Given the description of an element on the screen output the (x, y) to click on. 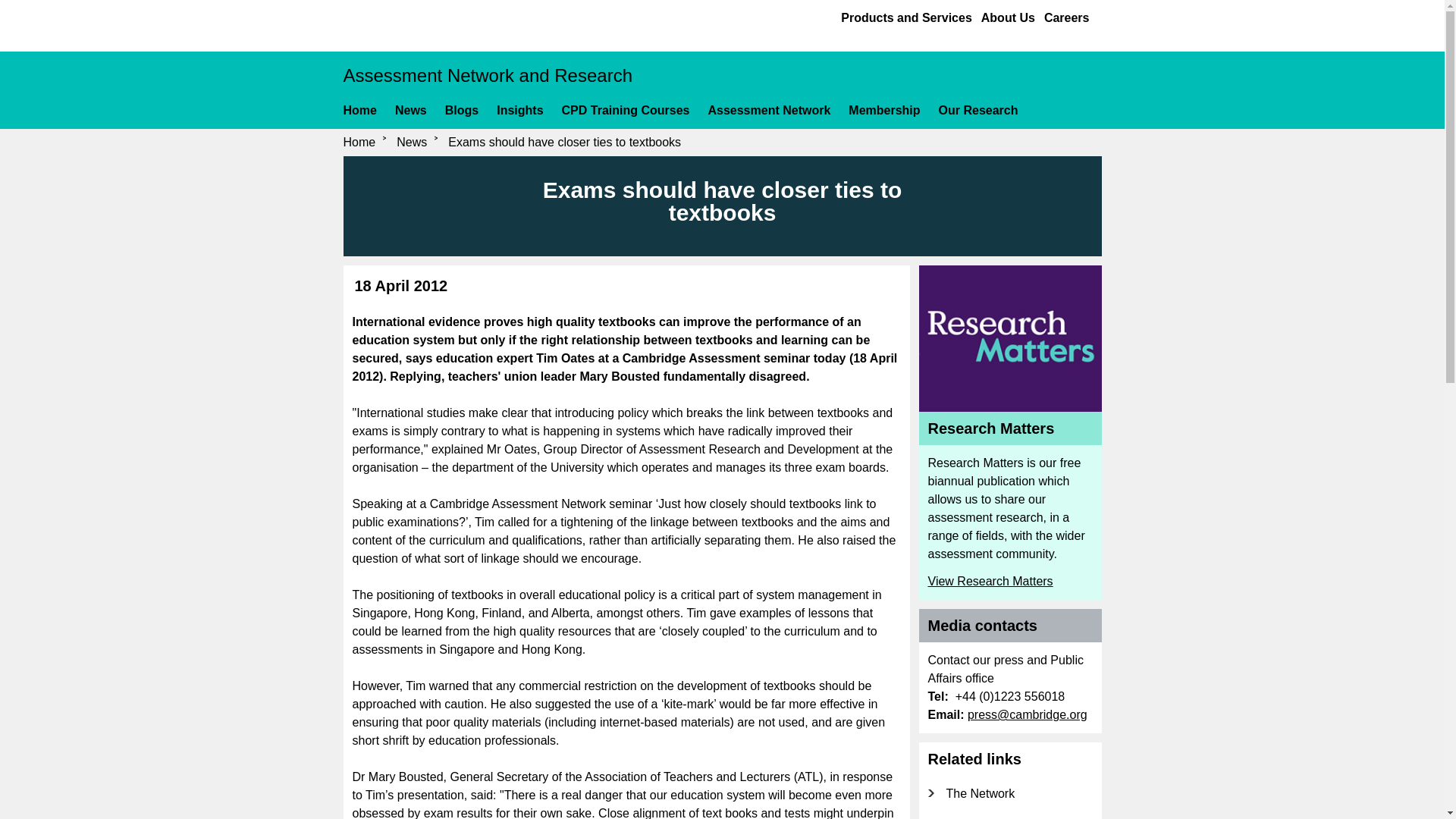
Products and Services (906, 18)
Careers (1066, 18)
About Us (1008, 18)
Cambridge (403, 22)
About Us (1008, 18)
Products and Services (906, 18)
